Given the description of an element on the screen output the (x, y) to click on. 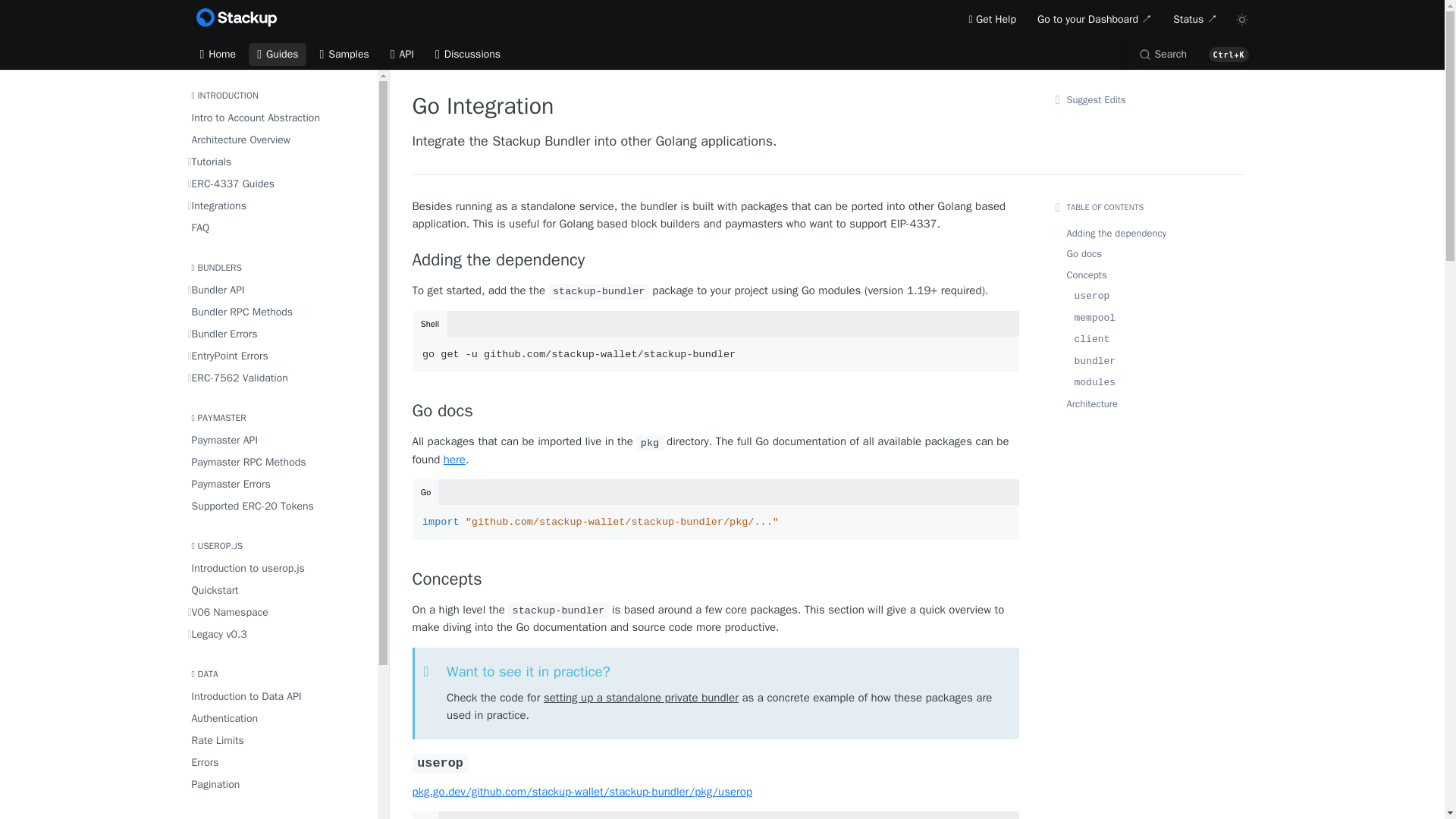
Intro to Account Abstraction (277, 117)
Architecture Overview (277, 139)
Adding the dependency (715, 260)
Tutorials (277, 161)
Samples (344, 54)
API (401, 54)
Guides (276, 54)
ERC-4337 Guides (277, 183)
Go docs (715, 410)
userop (715, 762)
Discussions (467, 54)
Concepts (715, 578)
Home (217, 54)
